Given the description of an element on the screen output the (x, y) to click on. 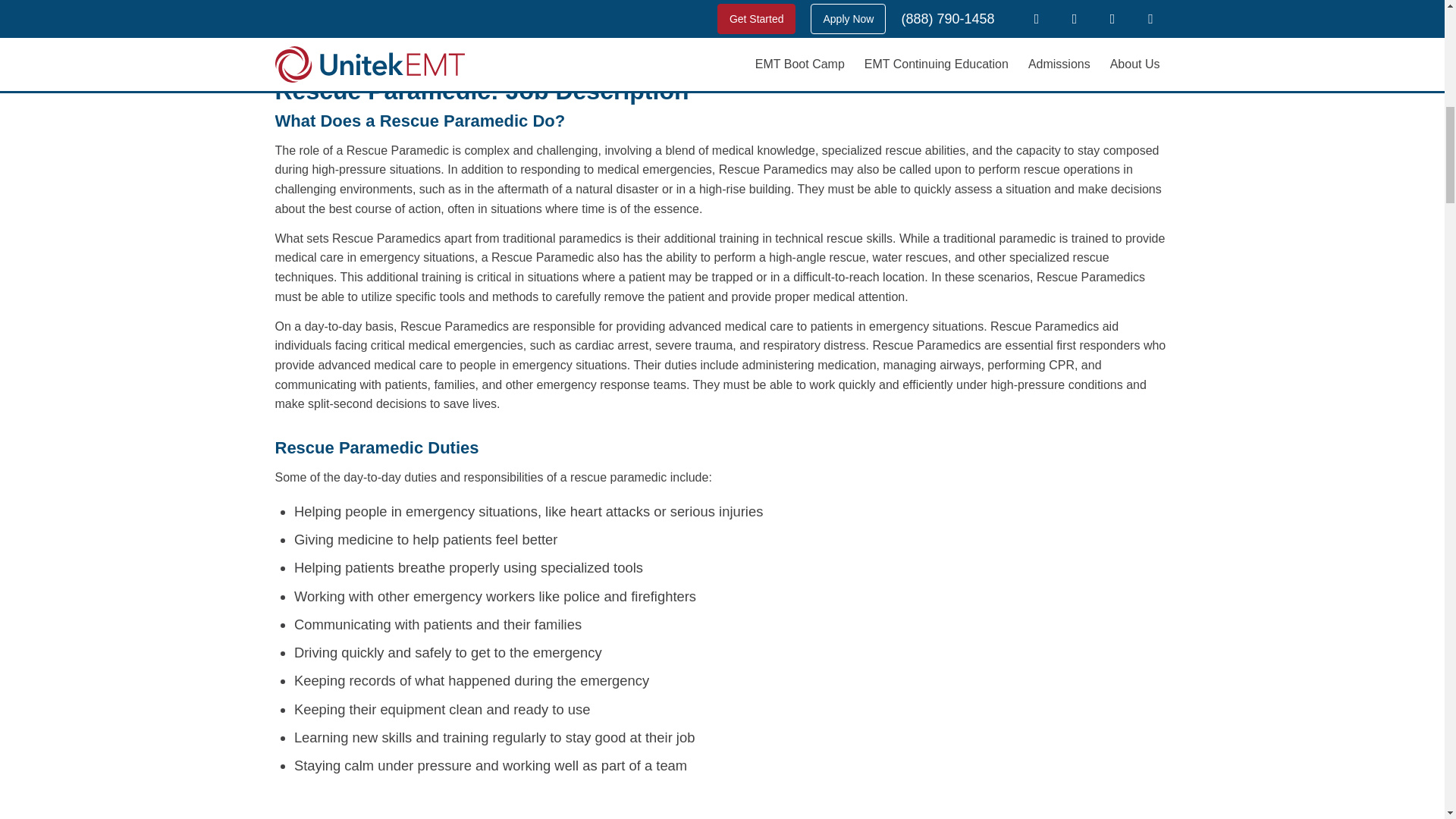
how to become an EMT (645, 31)
how to become a paramedic (812, 31)
